Given the description of an element on the screen output the (x, y) to click on. 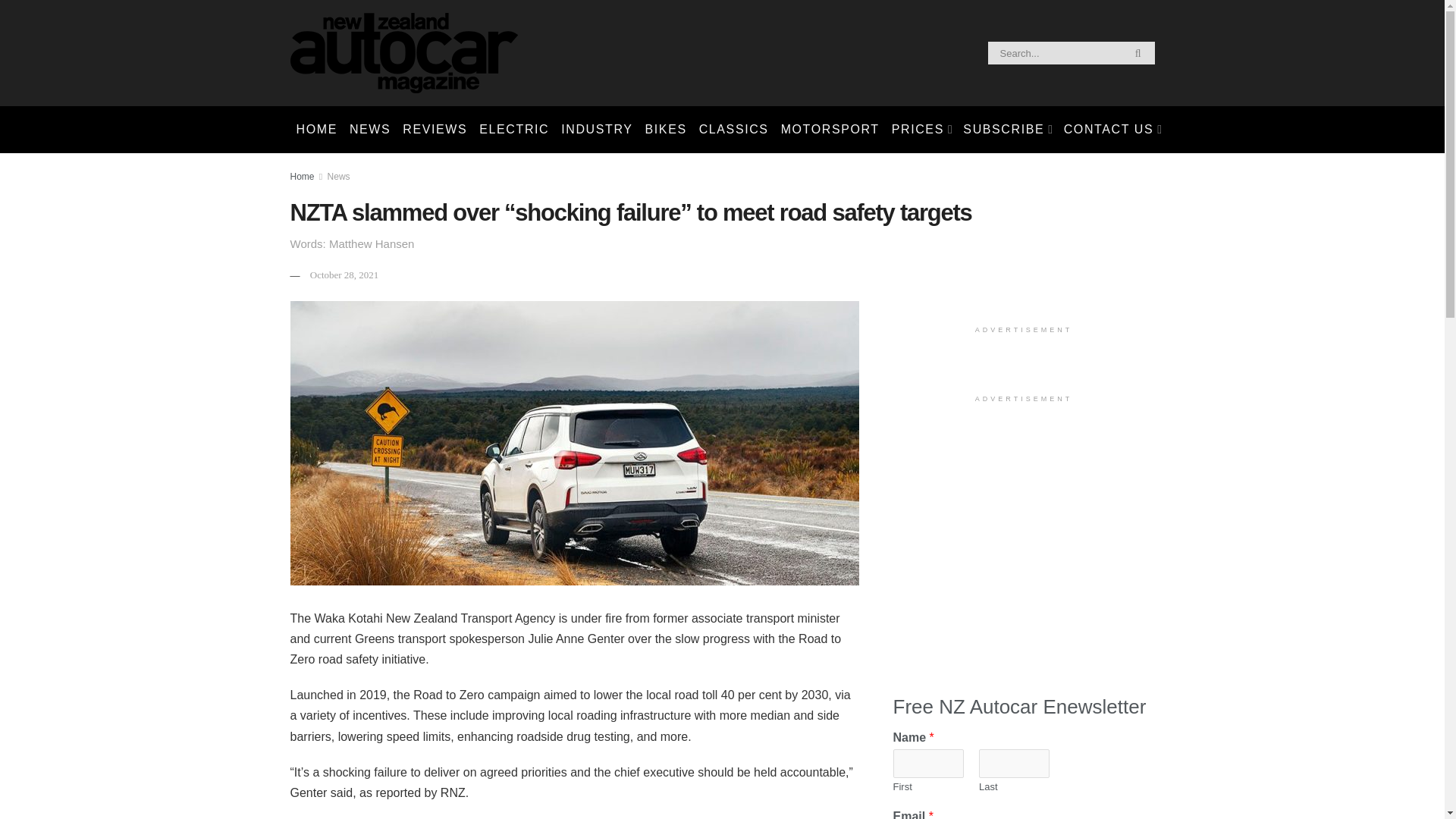
HOME (315, 128)
PRICES (921, 128)
MOTORSPORT (829, 128)
NEWS (369, 128)
ELECTRIC (513, 128)
CLASSICS (733, 128)
BIKES (666, 128)
INDUSTRY (596, 128)
REVIEWS (434, 128)
